Given the description of an element on the screen output the (x, y) to click on. 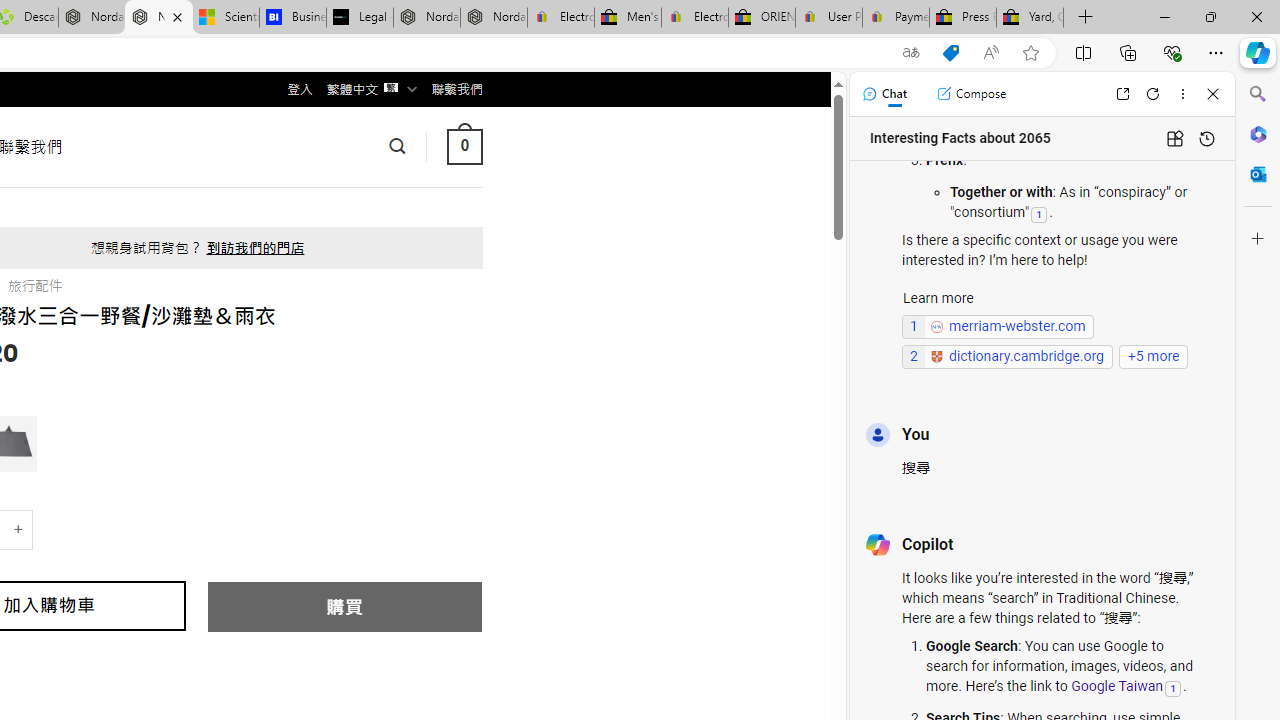
 0  (464, 146)
Chat (884, 93)
